Given the description of an element on the screen output the (x, y) to click on. 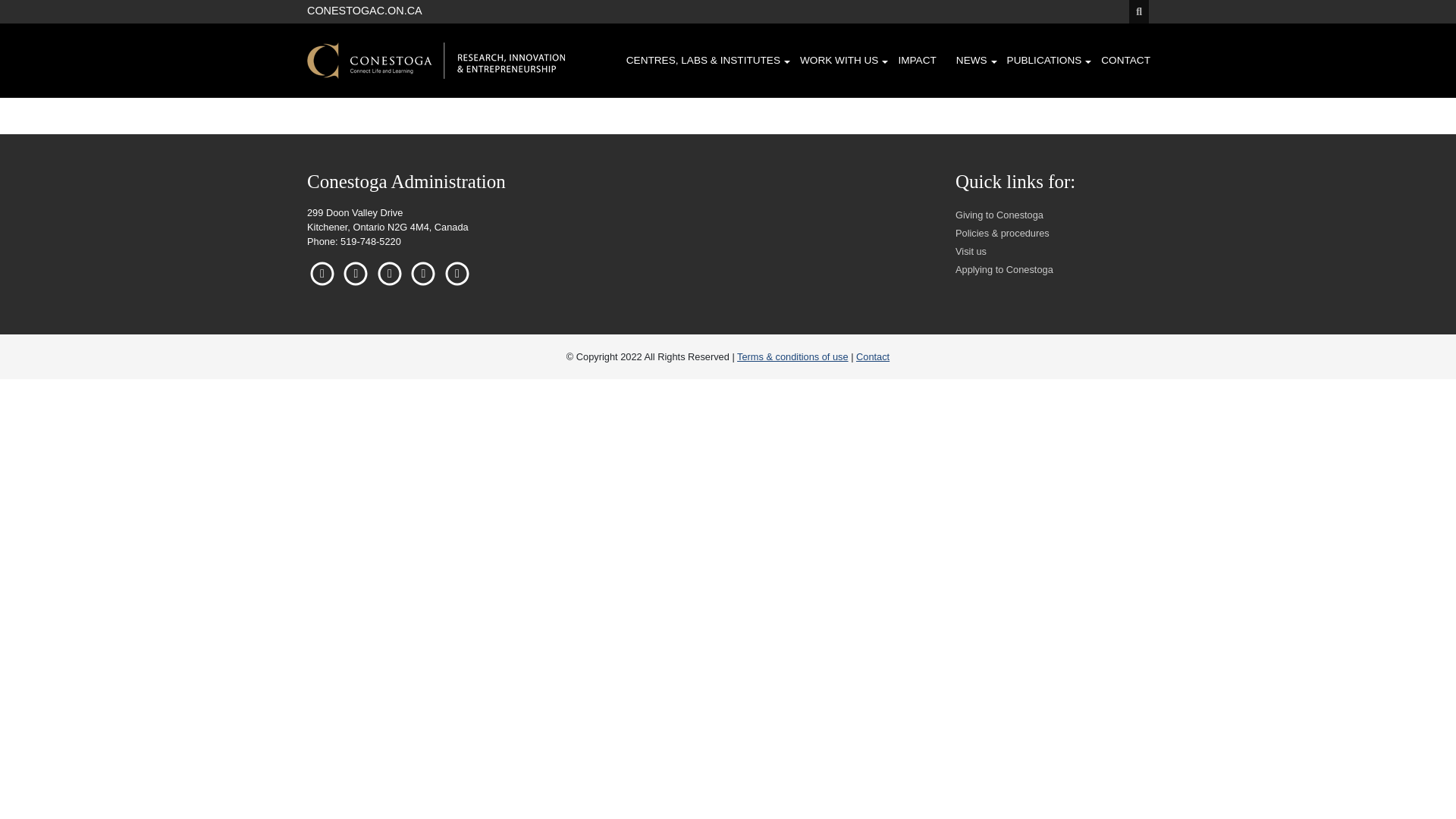
Applying to Conestoga (1003, 269)
Visit us (971, 251)
Back to conestogac.on.ca (364, 9)
Giving to Conestoga (999, 214)
Contact (872, 356)
CONESTOGAC.ON.CA (364, 9)
